Given the description of an element on the screen output the (x, y) to click on. 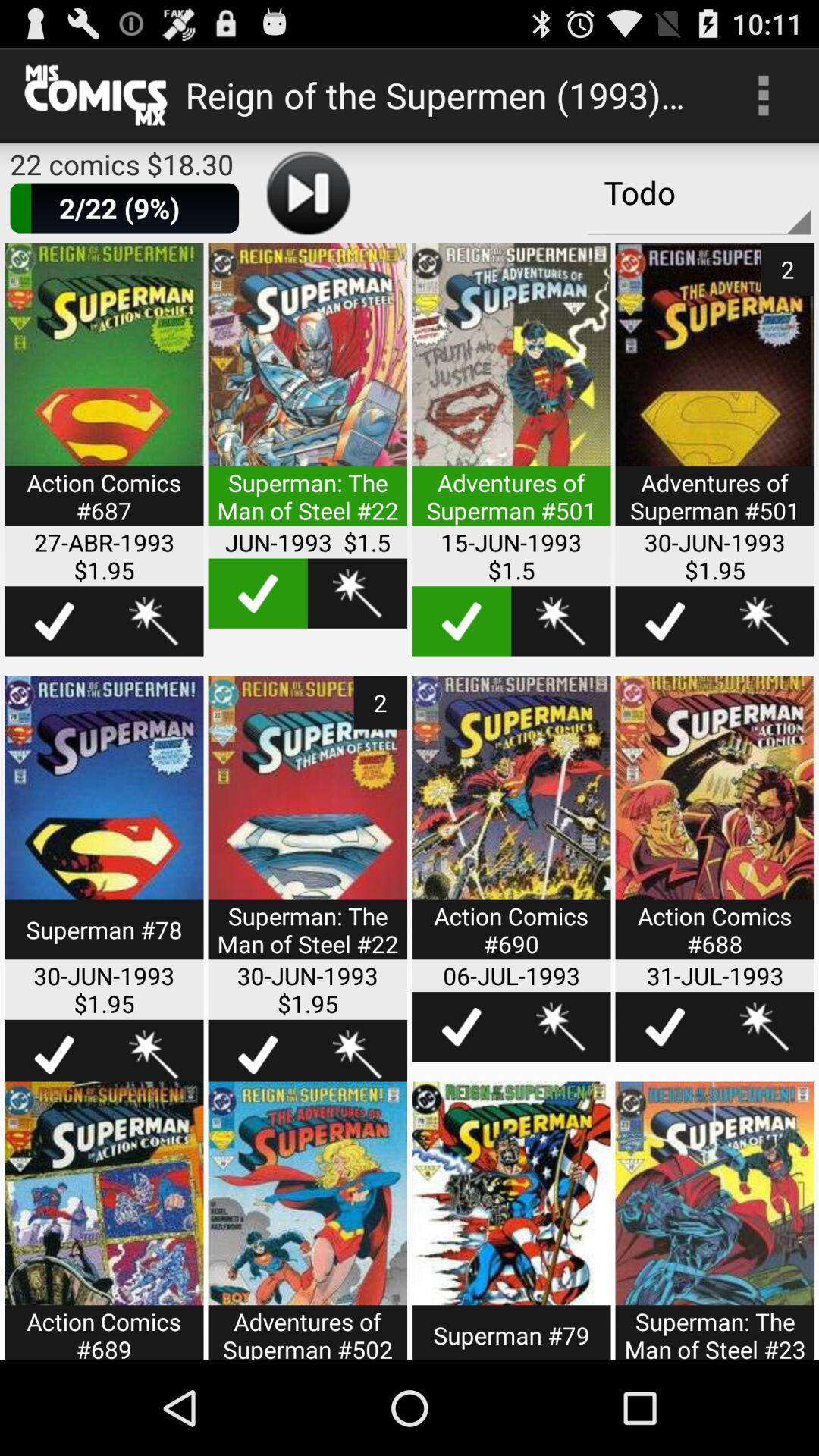
wishlist (153, 621)
